Given the description of an element on the screen output the (x, y) to click on. 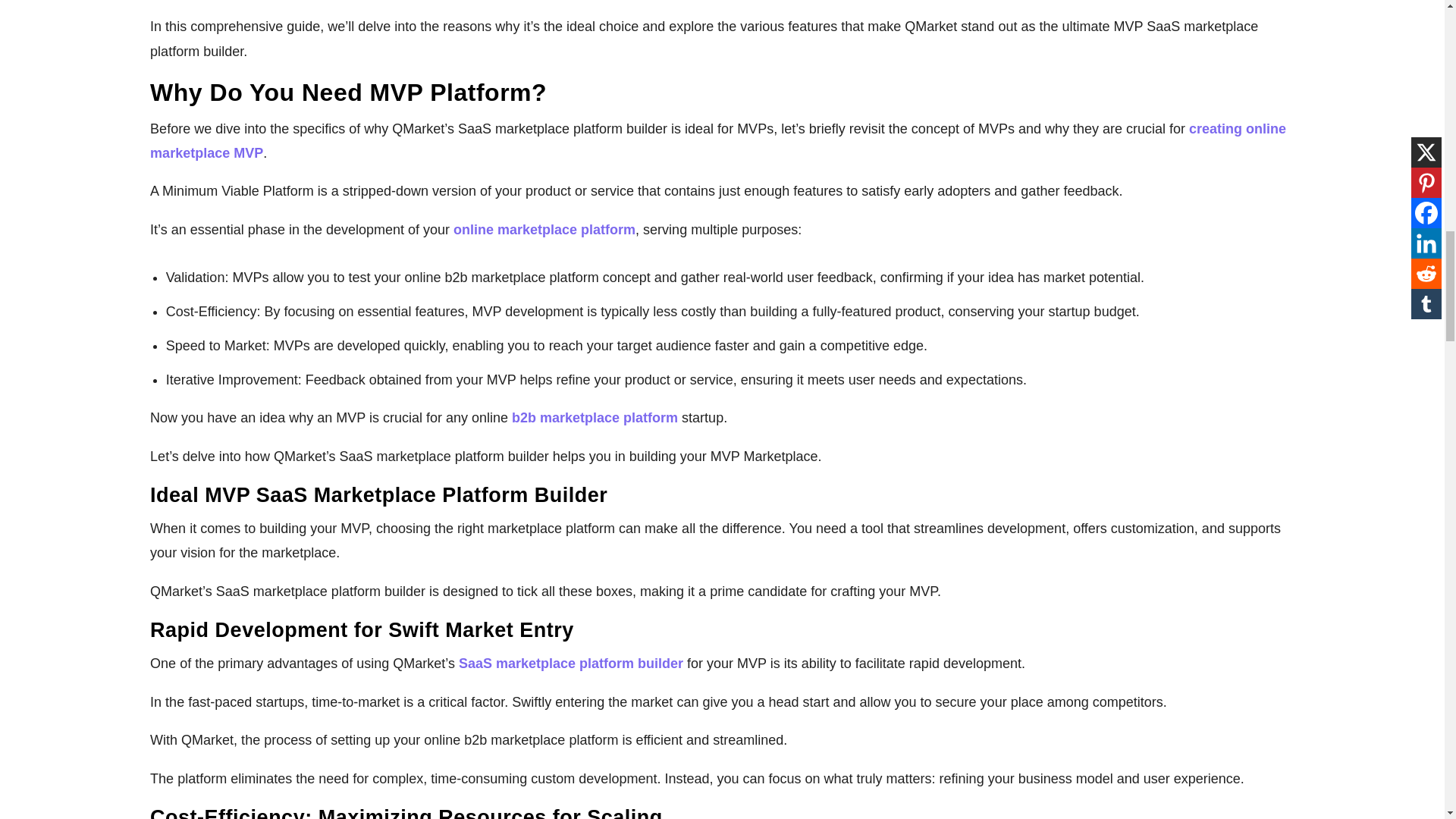
SaaS marketplace platform builder (572, 663)
b2b marketplace platform (595, 417)
online marketplace platform (543, 229)
creating online marketplace MVP (717, 140)
